Given the description of an element on the screen output the (x, y) to click on. 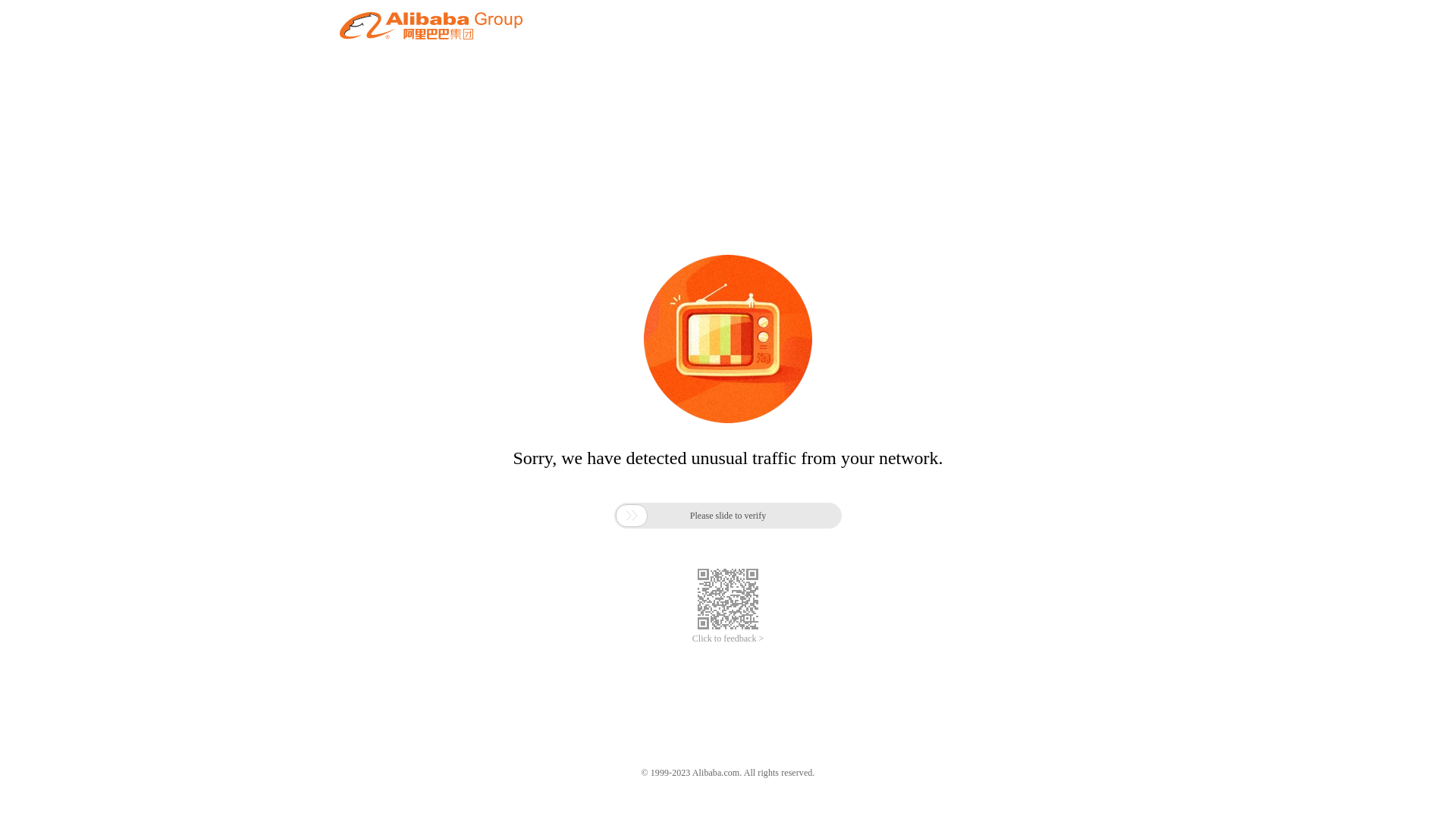
Click to feedback > Element type: text (727, 638)
